Given the description of an element on the screen output the (x, y) to click on. 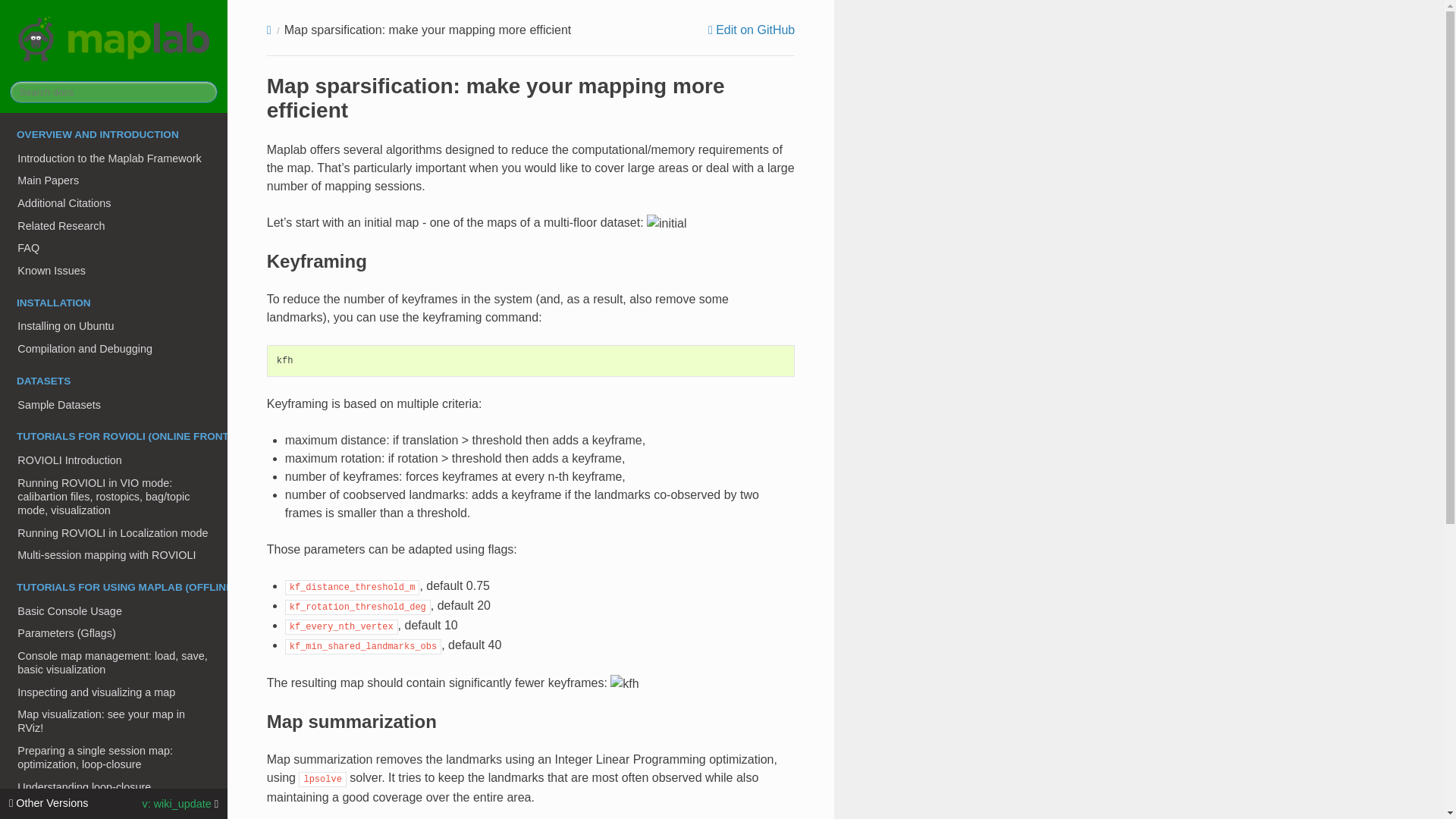
Sample Datasets (113, 404)
Additional Citations (113, 202)
Compilation and Debugging (113, 348)
Preparing a single session map: optimization, loop-closure (113, 757)
Inspecting and visualizing a map (113, 691)
FAQ (113, 247)
Running ROVIOLI in Localization mode (113, 532)
Introduction to the Maplab Framework (113, 158)
Installing on Ubuntu (113, 326)
Main Papers (113, 179)
Known Issues (113, 270)
ROVIOLI Introduction (113, 459)
Basic Console Usage (113, 610)
Console map management: load, save, basic visualization (113, 662)
Related Research (113, 225)
